Given the description of an element on the screen output the (x, y) to click on. 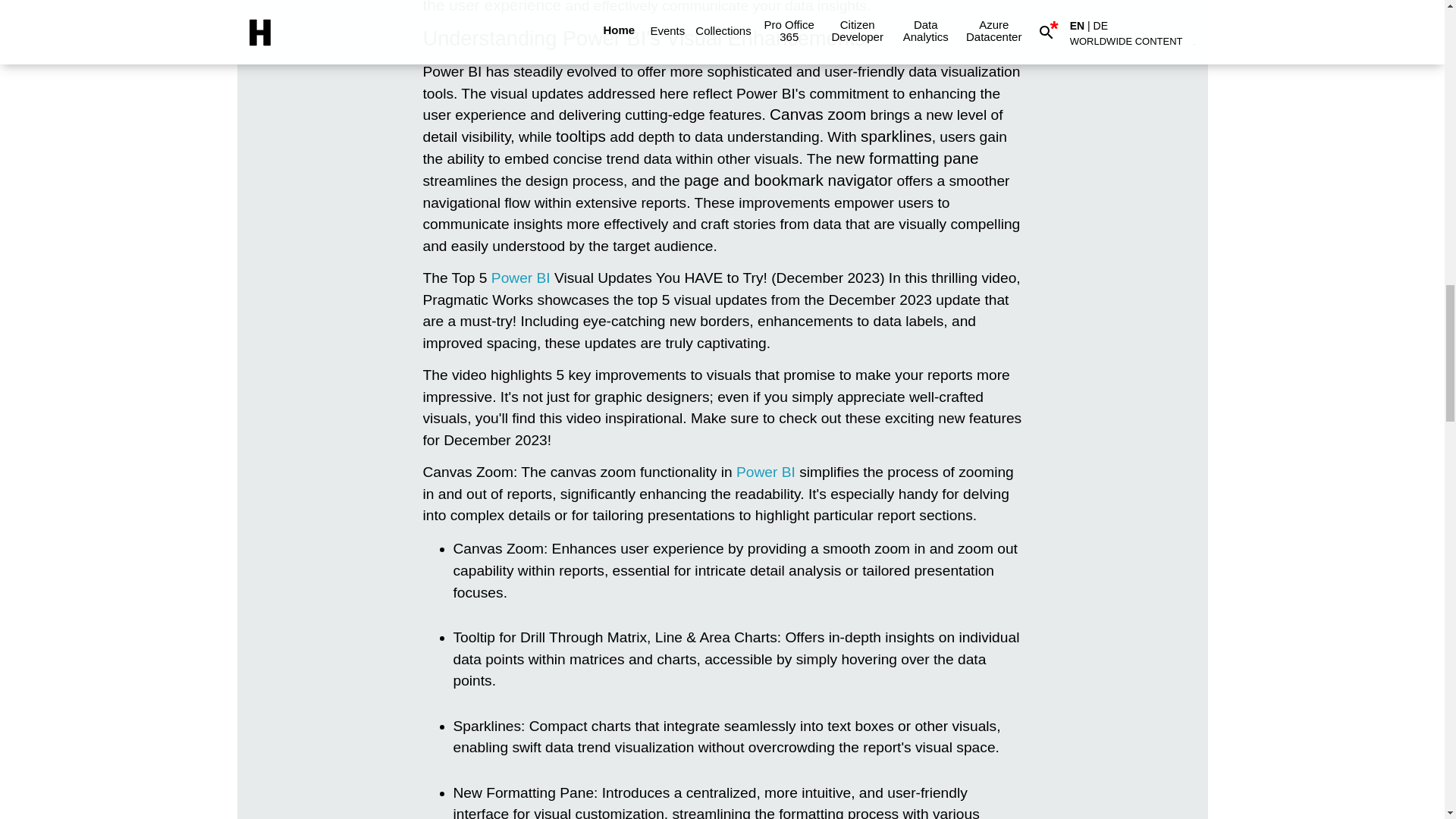
Power BI (521, 277)
Power BI (521, 277)
Power BI (765, 471)
Power BI (765, 471)
